Given the description of an element on the screen output the (x, y) to click on. 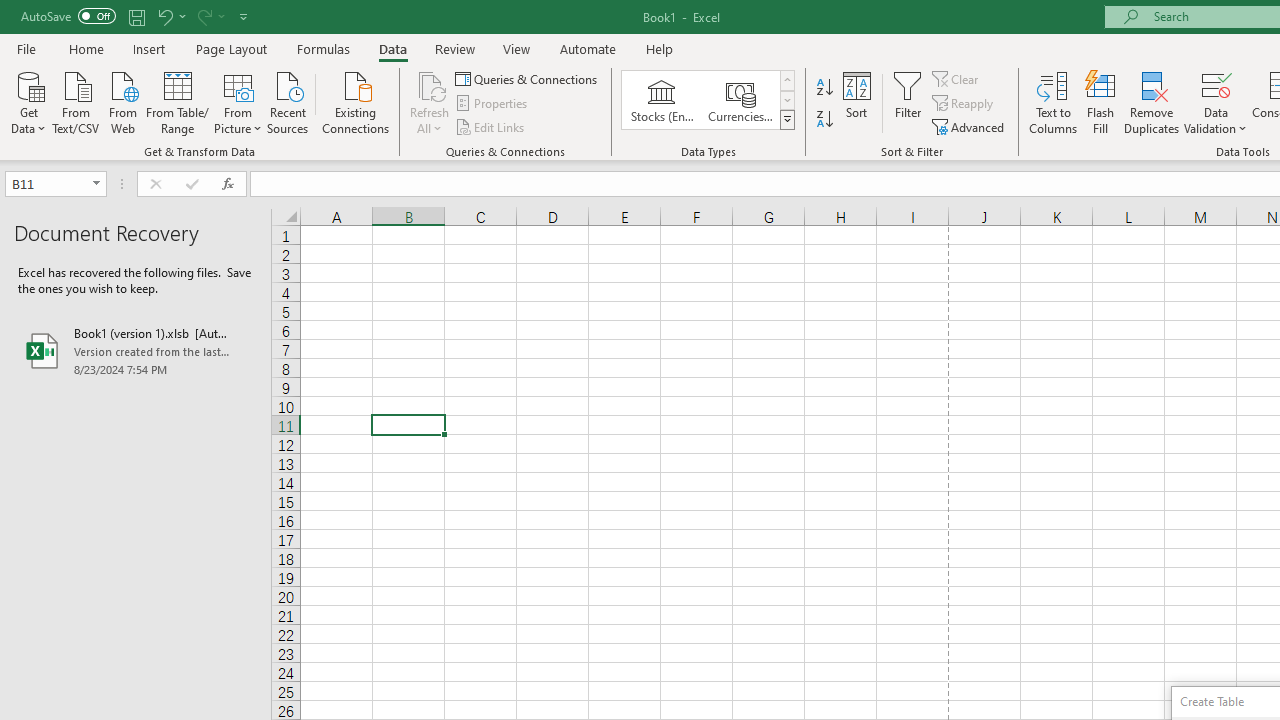
Sort... (856, 102)
Queries & Connections (527, 78)
Get Data (28, 101)
Recent Sources (287, 101)
From Text/CSV (75, 101)
AutomationID: ConvertToLinkedEntity (708, 99)
Currencies (English) (740, 100)
